Given the description of an element on the screen output the (x, y) to click on. 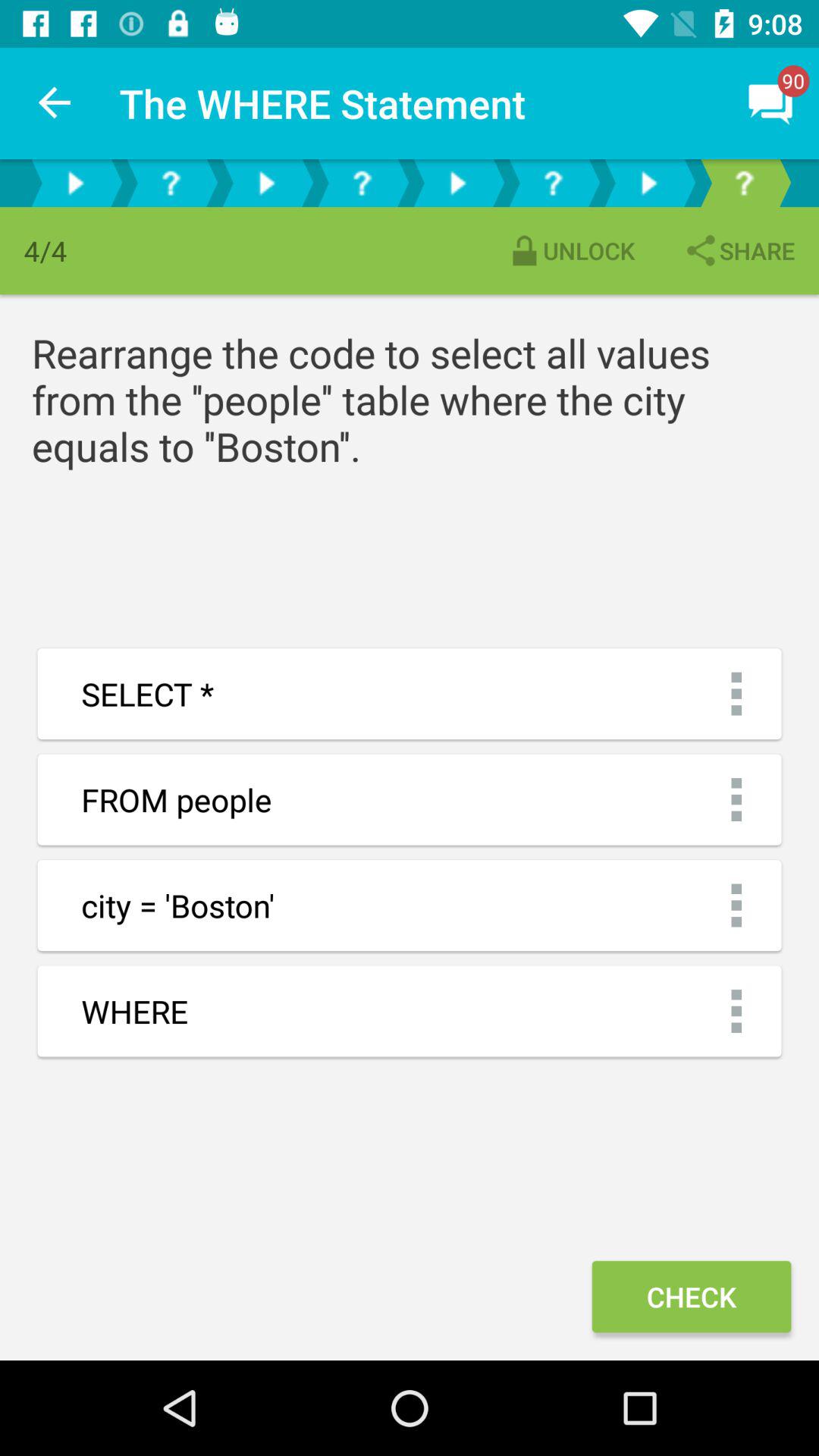
turn on the unlock item (570, 250)
